Given the description of an element on the screen output the (x, y) to click on. 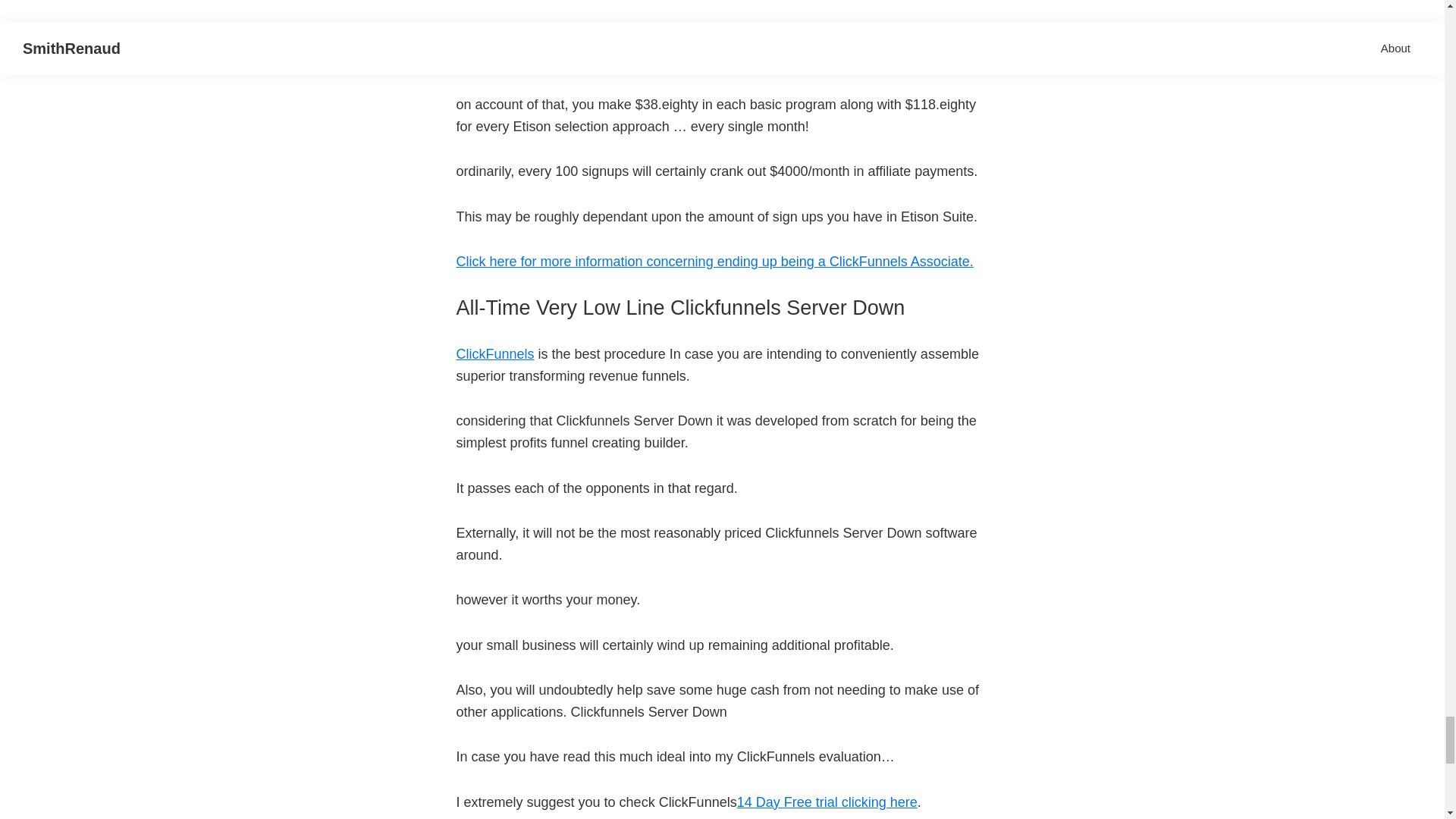
14 Day Free trial clicking here (826, 801)
ClickFunnels (495, 353)
